Given the description of an element on the screen output the (x, y) to click on. 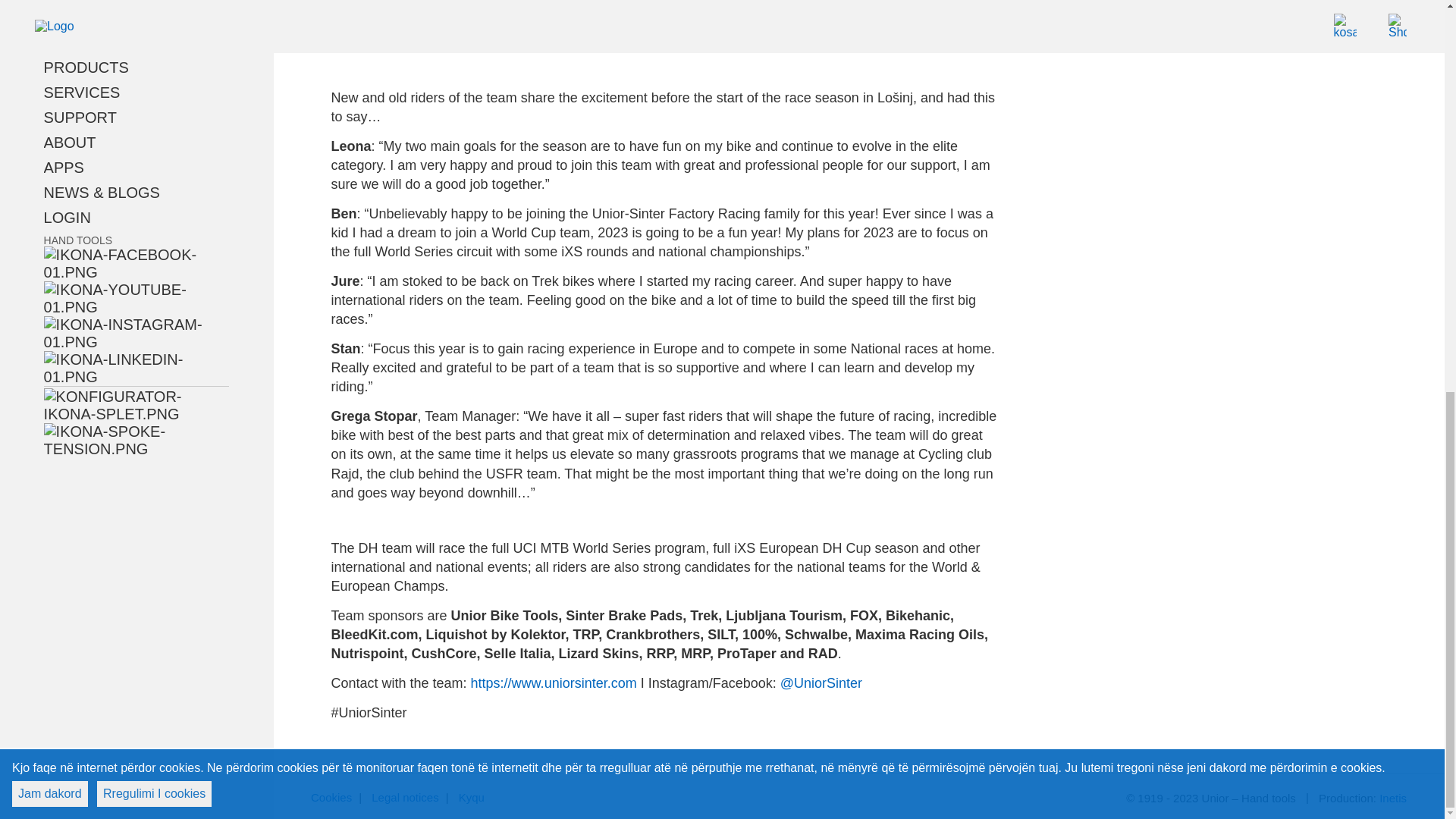
Inetis (1392, 797)
Legal notices (404, 797)
Cookies (331, 797)
Jam dakord (49, 42)
Rregulimi I cookies (154, 42)
Kyqu (471, 797)
